Given the description of an element on the screen output the (x, y) to click on. 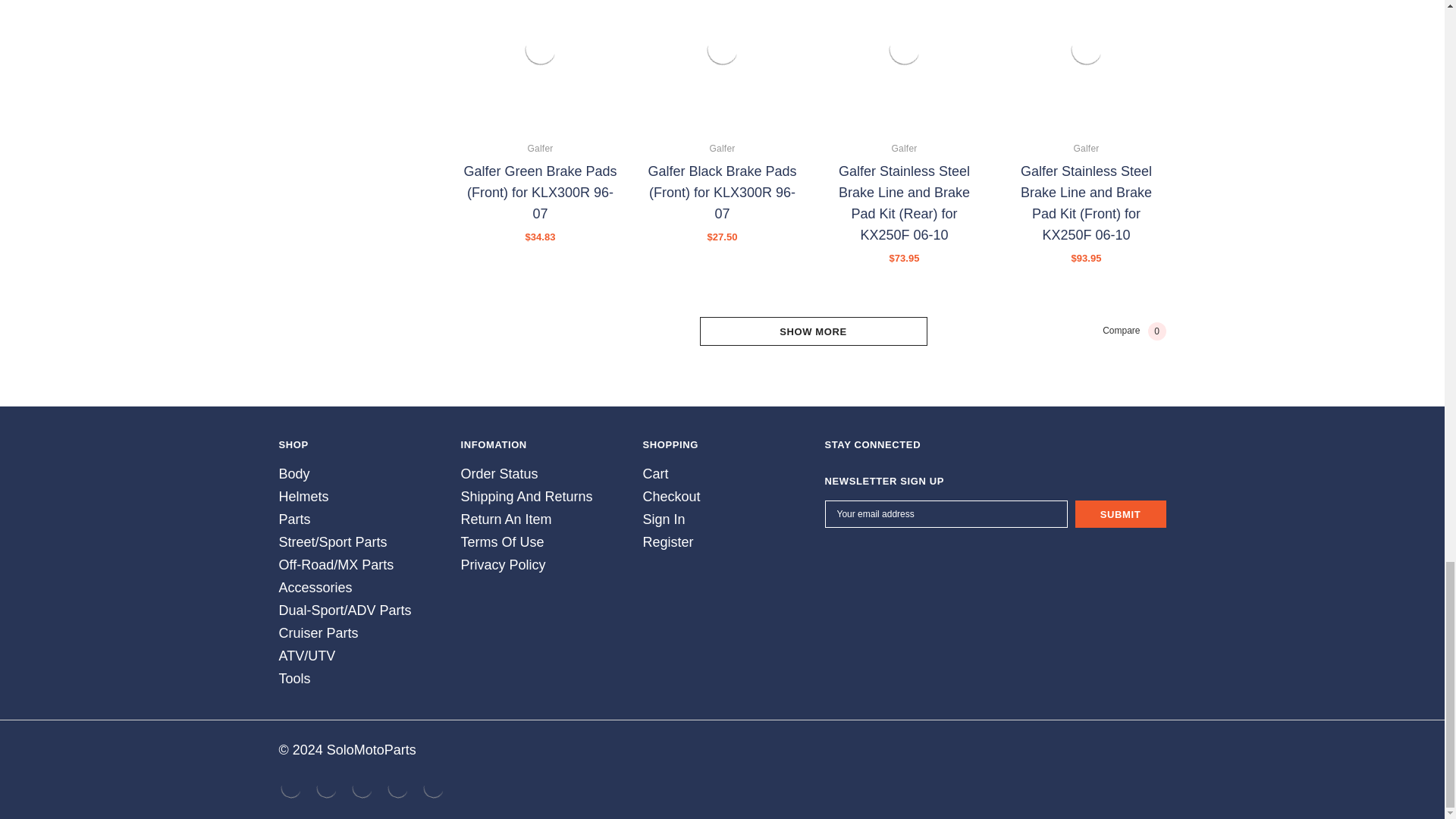
Submit (1120, 513)
